Given the description of an element on the screen output the (x, y) to click on. 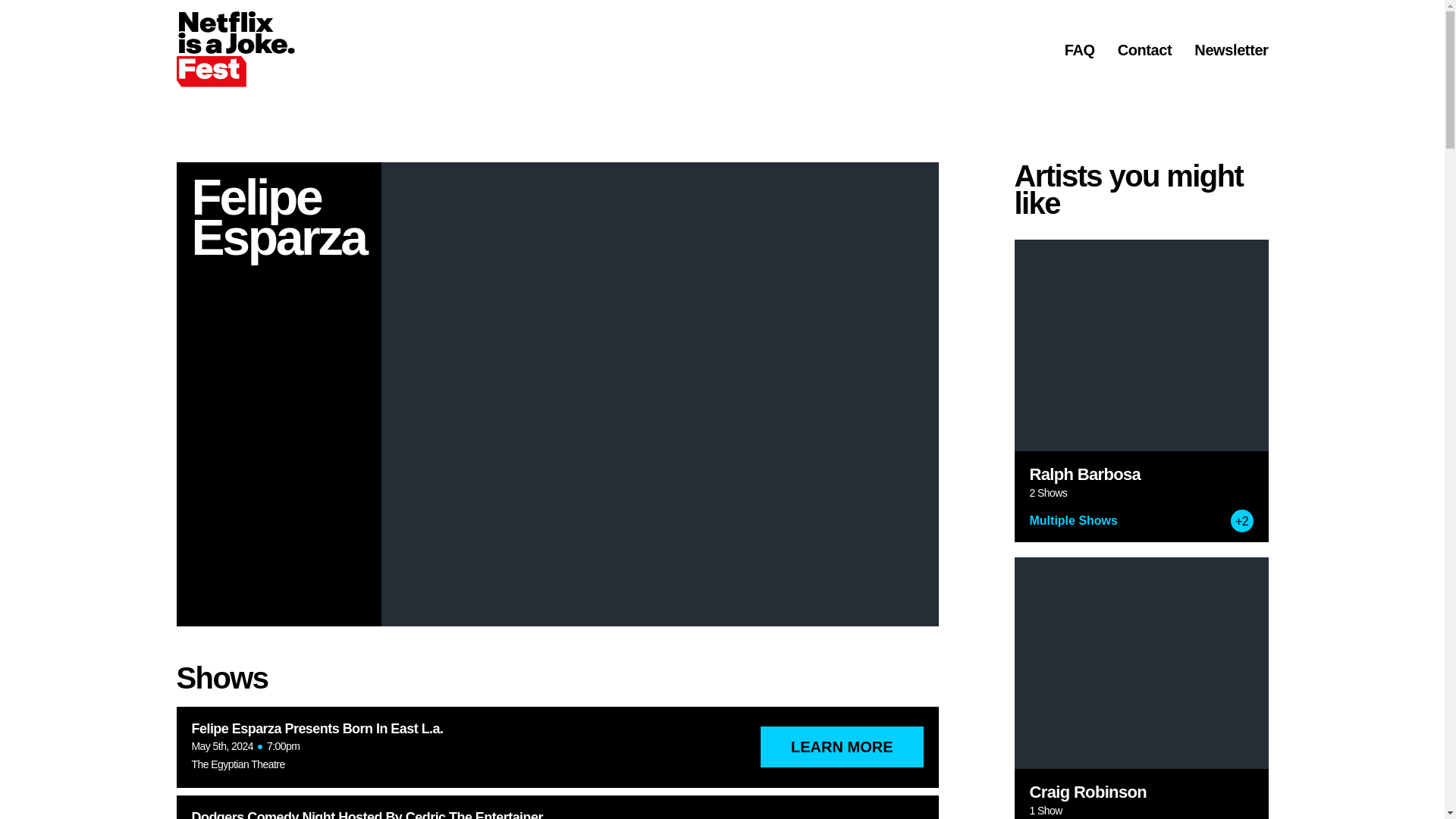
Newsletter (1230, 49)
LEARN MORE (841, 746)
FAQ (1079, 49)
Contact (1145, 49)
